Given the description of an element on the screen output the (x, y) to click on. 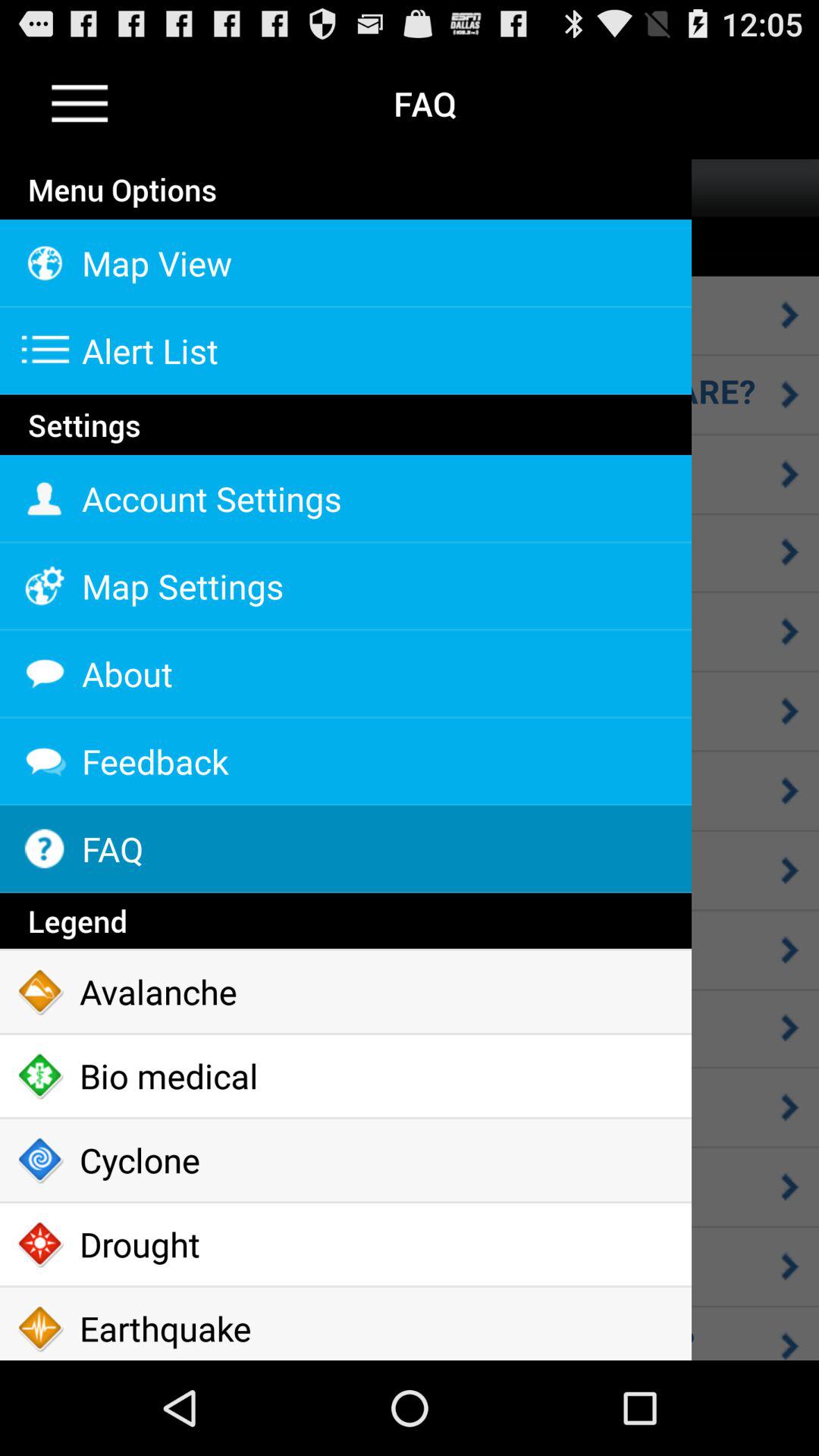
select item above the account settings (345, 453)
